Given the description of an element on the screen output the (x, y) to click on. 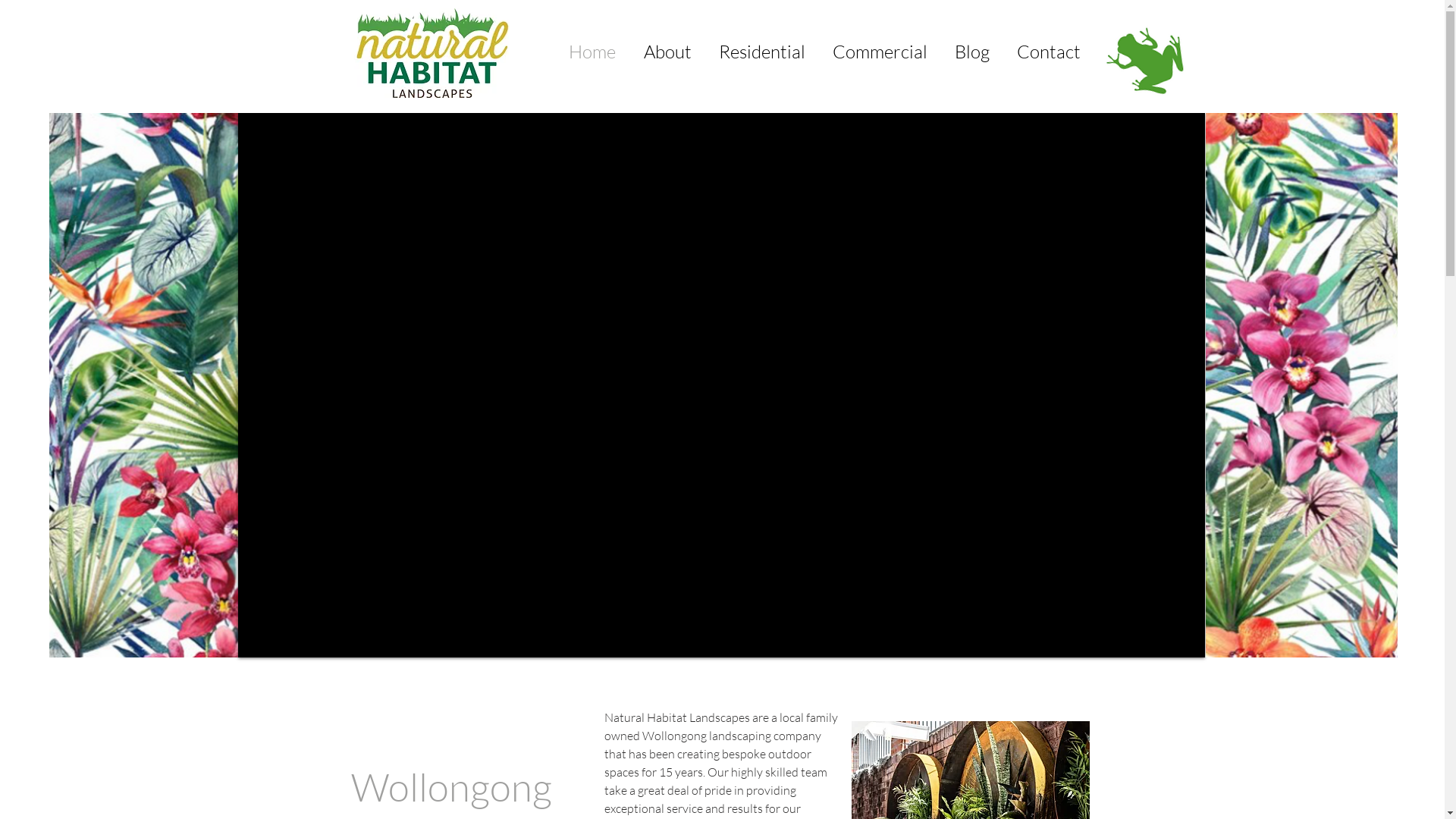
Residential Element type: text (762, 51)
Screen Shot 2017-04-06 at 10.08.13 am.png Element type: hover (431, 52)
About Element type: text (667, 51)
Blog Element type: text (971, 51)
Commercial Element type: text (880, 51)
Home Element type: text (592, 51)
Contact Element type: text (1047, 51)
